Given the description of an element on the screen output the (x, y) to click on. 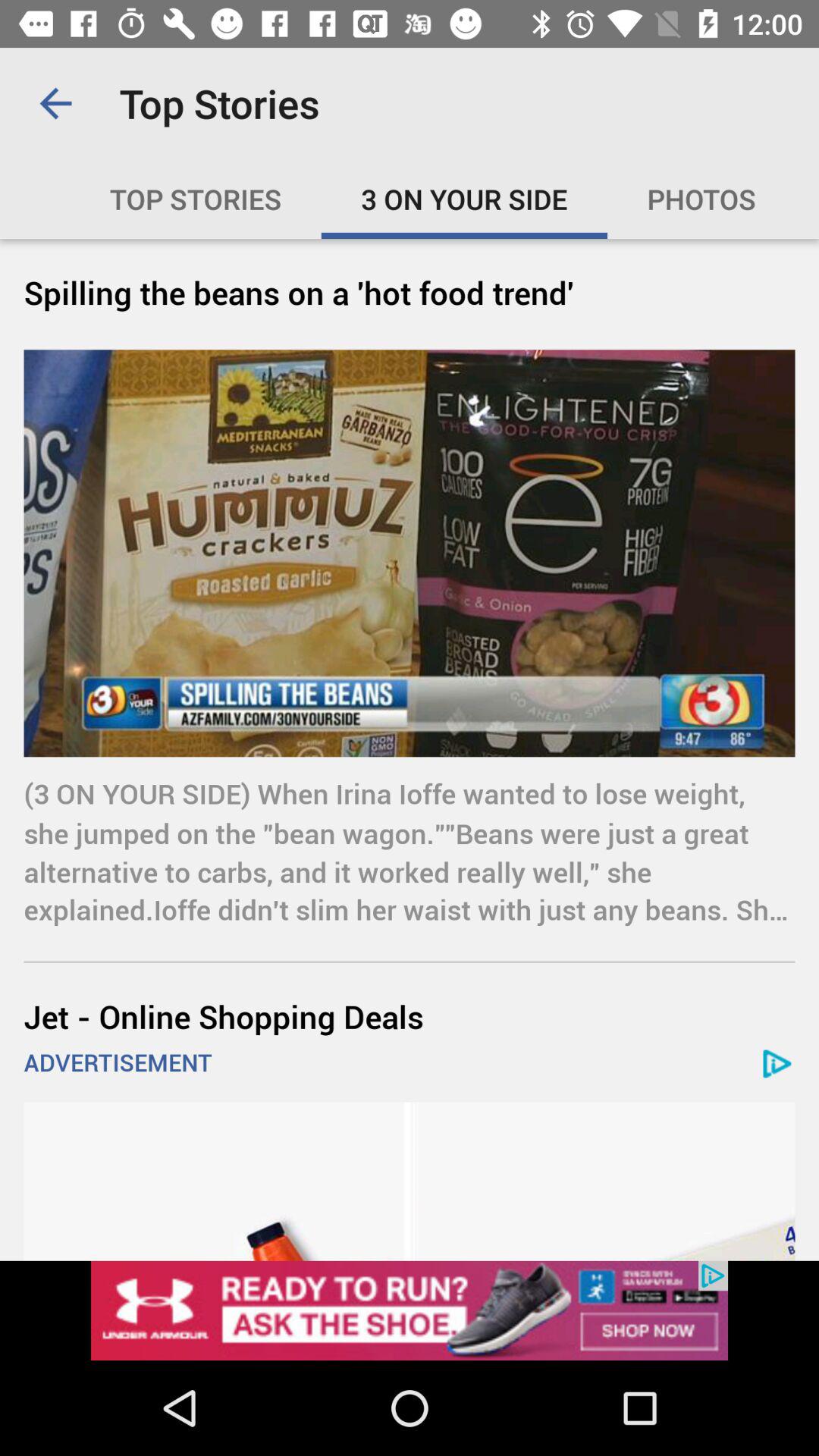
add select (409, 1310)
